Given the description of an element on the screen output the (x, y) to click on. 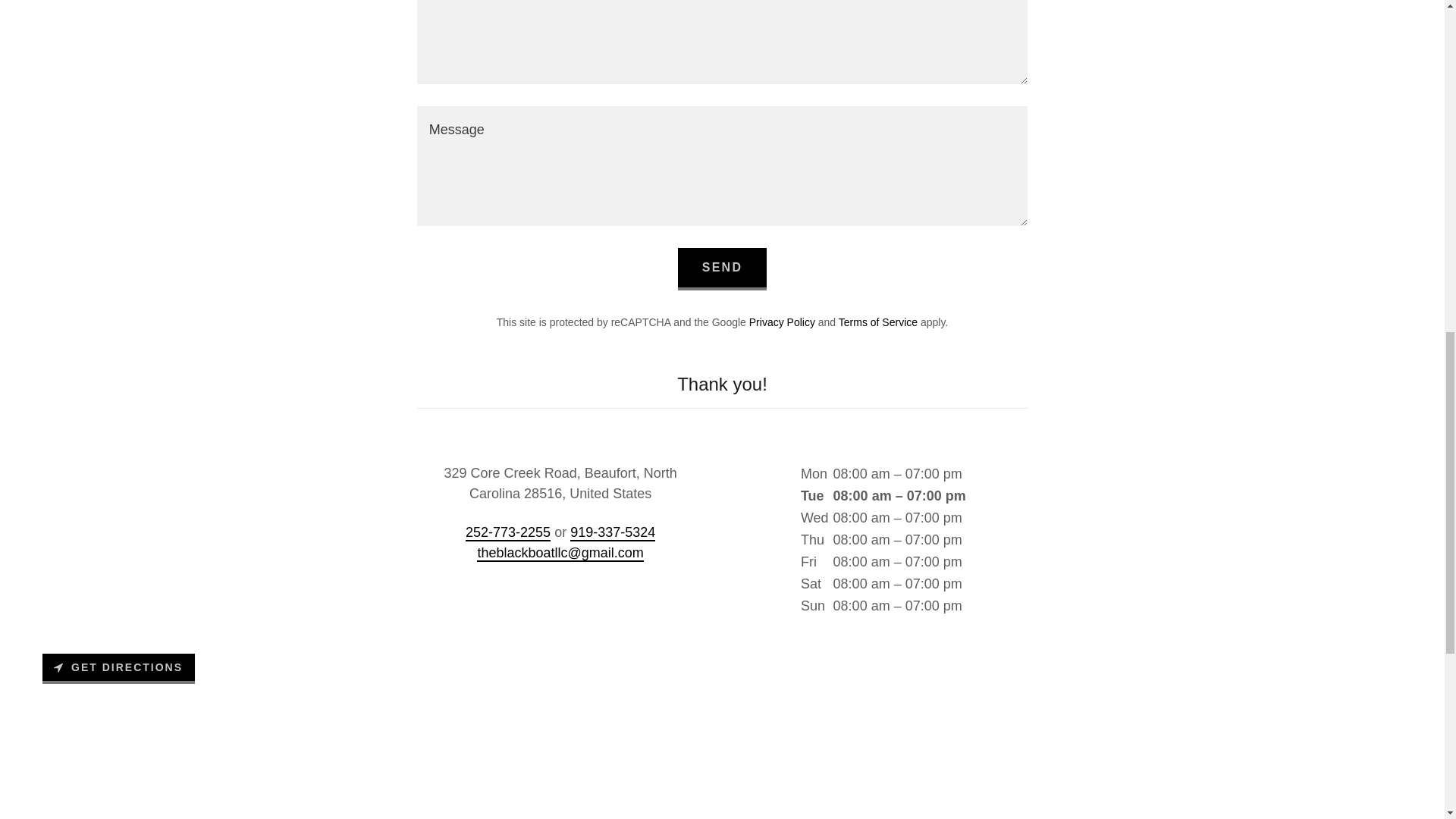
SEND (722, 269)
ACCEPT (1274, 324)
919-337-5324 (612, 532)
GET DIRECTIONS (118, 668)
Terms of Service (877, 322)
Privacy Policy (782, 322)
252-773-2255 (507, 532)
